Given the description of an element on the screen output the (x, y) to click on. 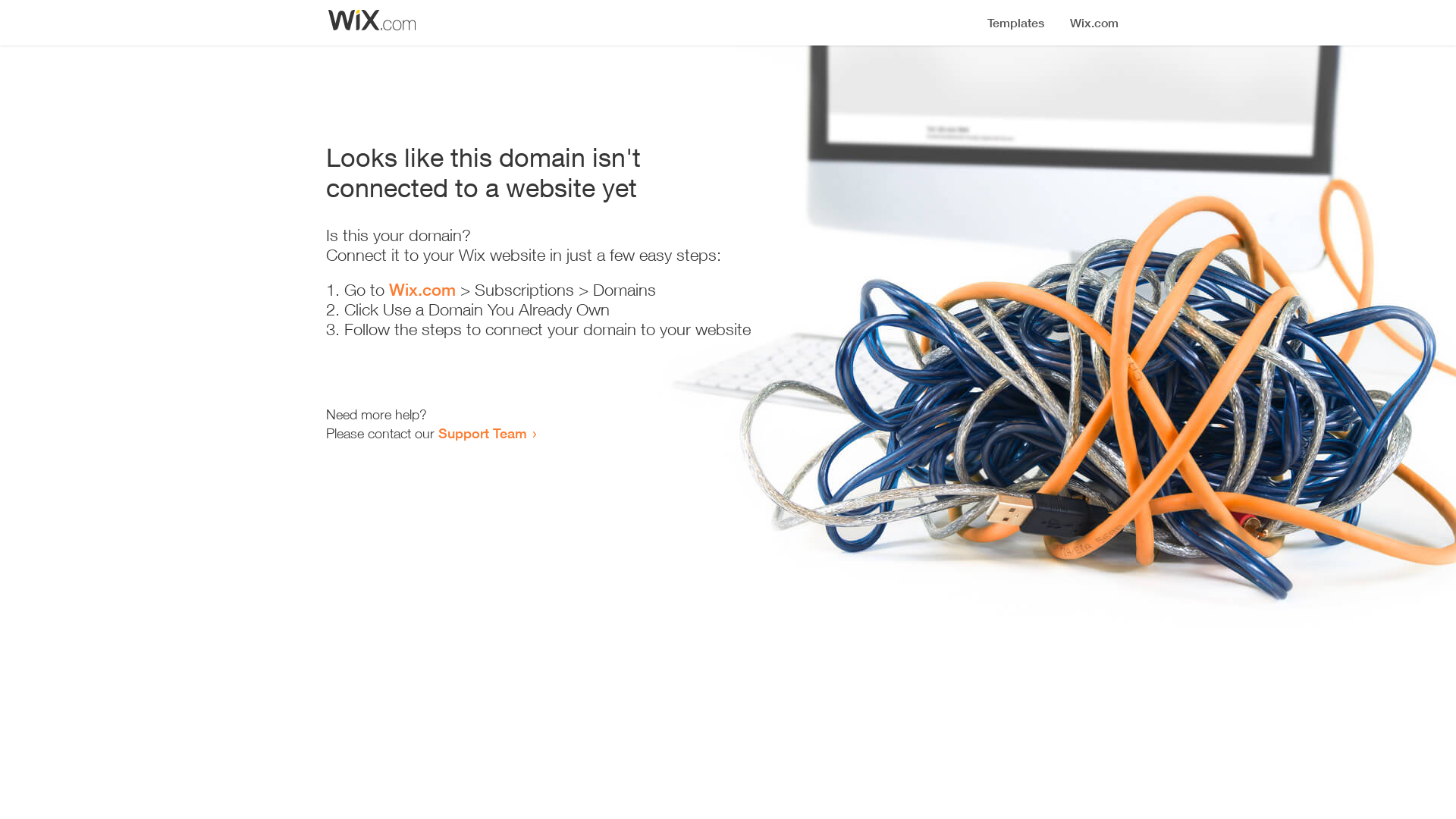
Wix.com Element type: text (422, 289)
Support Team Element type: text (482, 432)
